Given the description of an element on the screen output the (x, y) to click on. 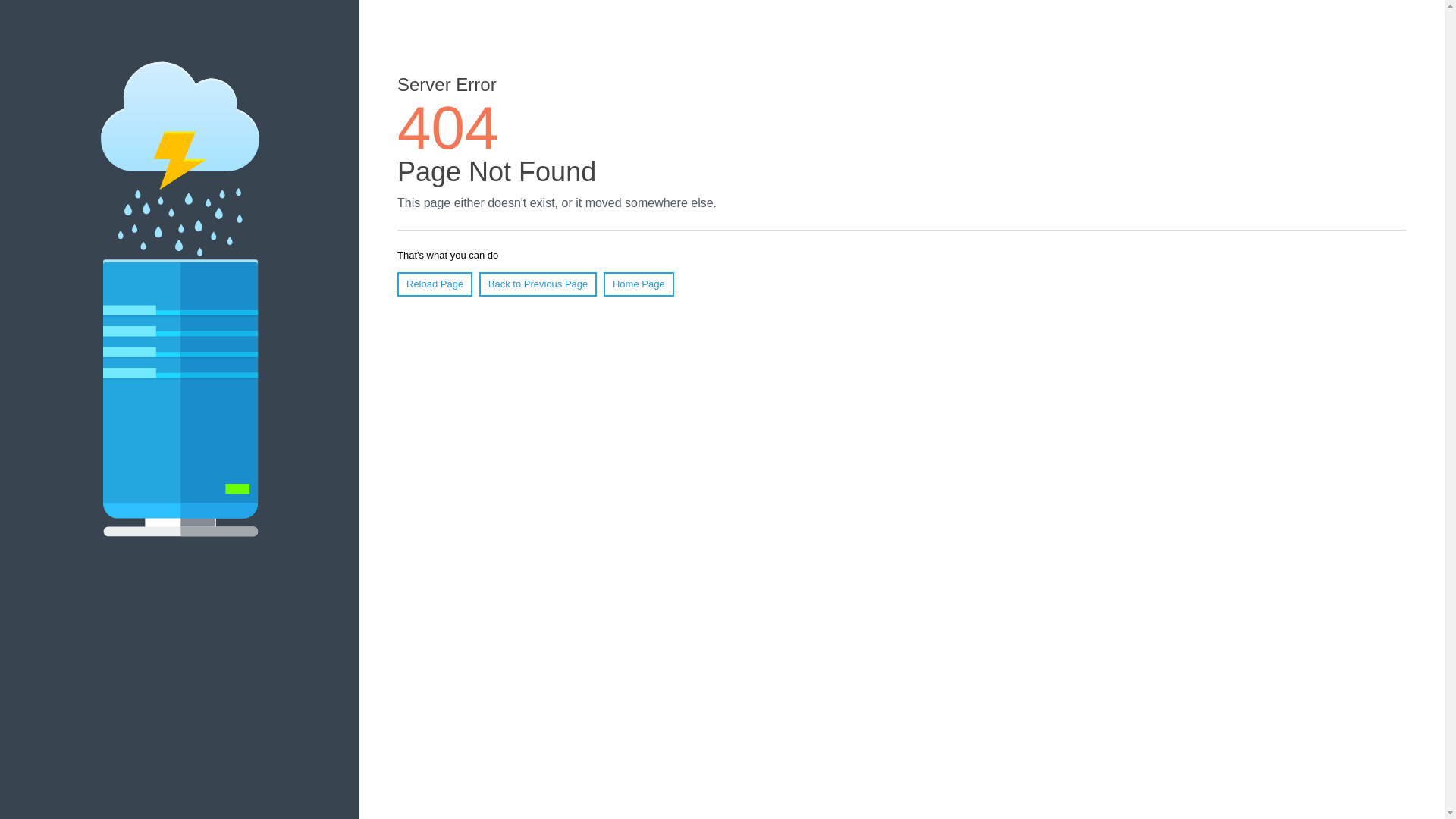
Home Page Element type: text (638, 284)
Back to Previous Page Element type: text (538, 284)
Reload Page Element type: text (434, 284)
